Given the description of an element on the screen output the (x, y) to click on. 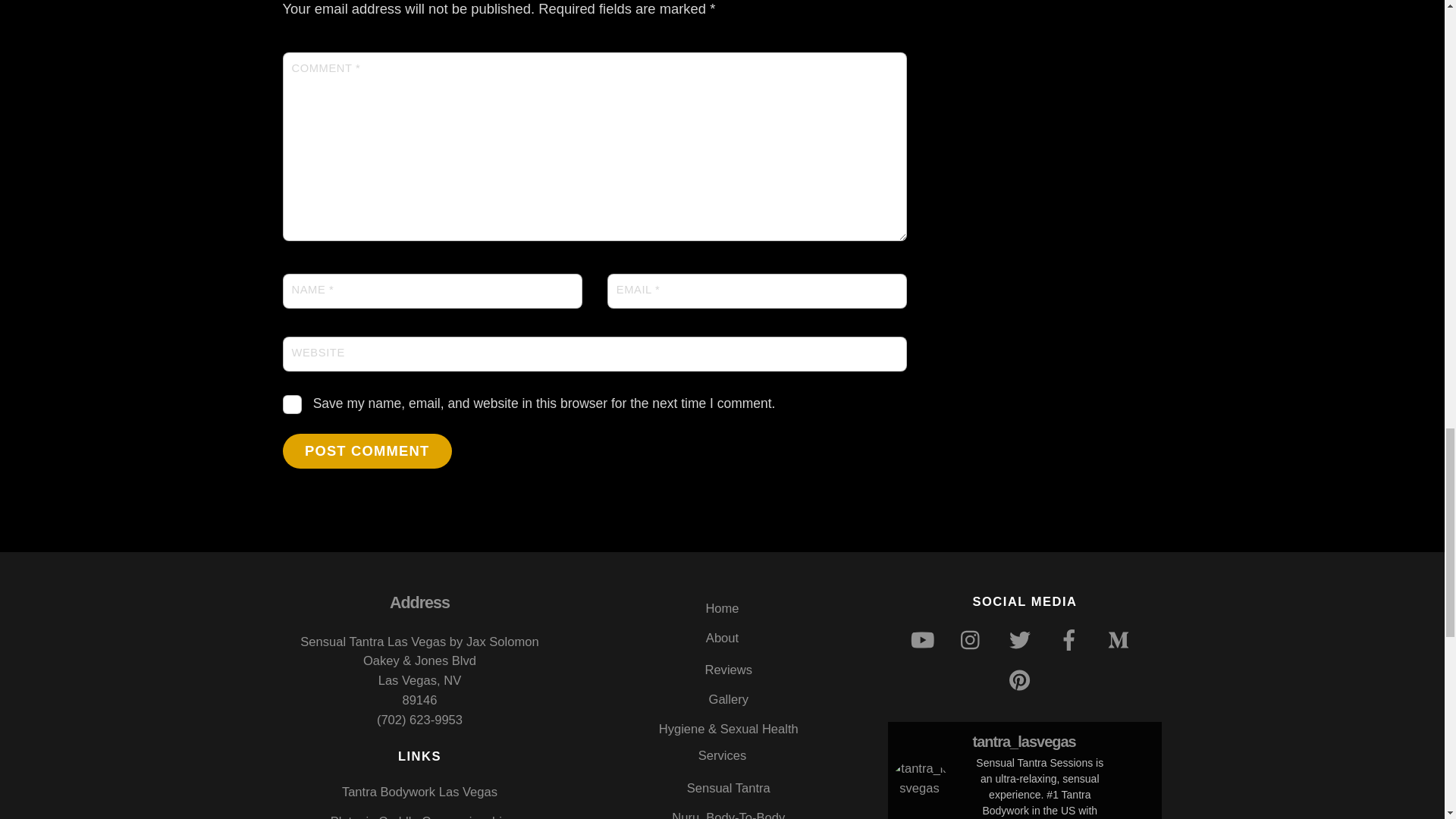
Post Comment (366, 451)
Post Comment (366, 451)
Platonic Cuddle Companionship (419, 816)
Sensual Tantra Las Vegas by Jax Solomon (418, 641)
yes (291, 404)
Tantra Bodywork Las Vegas (419, 791)
